Given the description of an element on the screen output the (x, y) to click on. 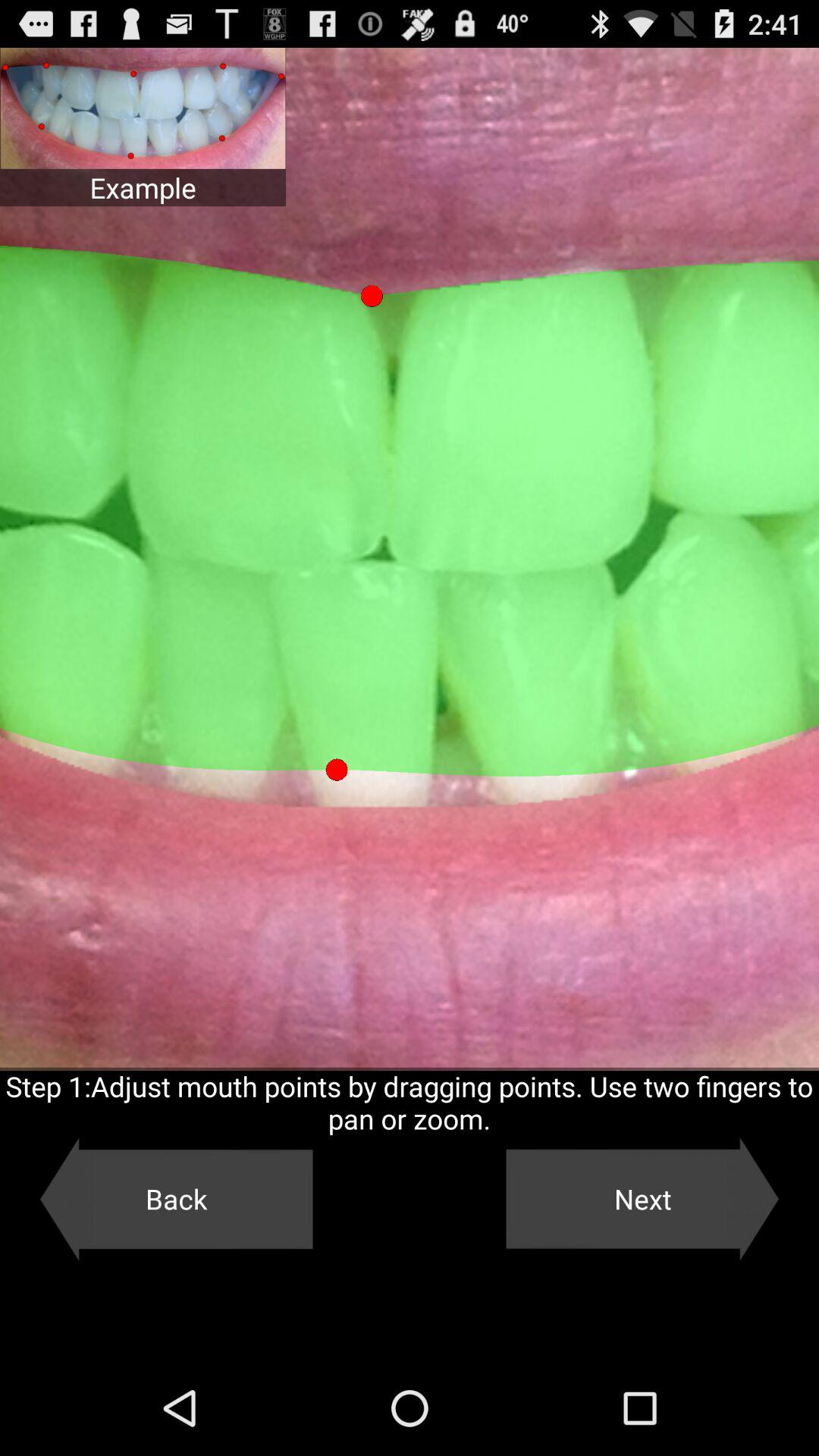
open the item next to back (642, 1198)
